Given the description of an element on the screen output the (x, y) to click on. 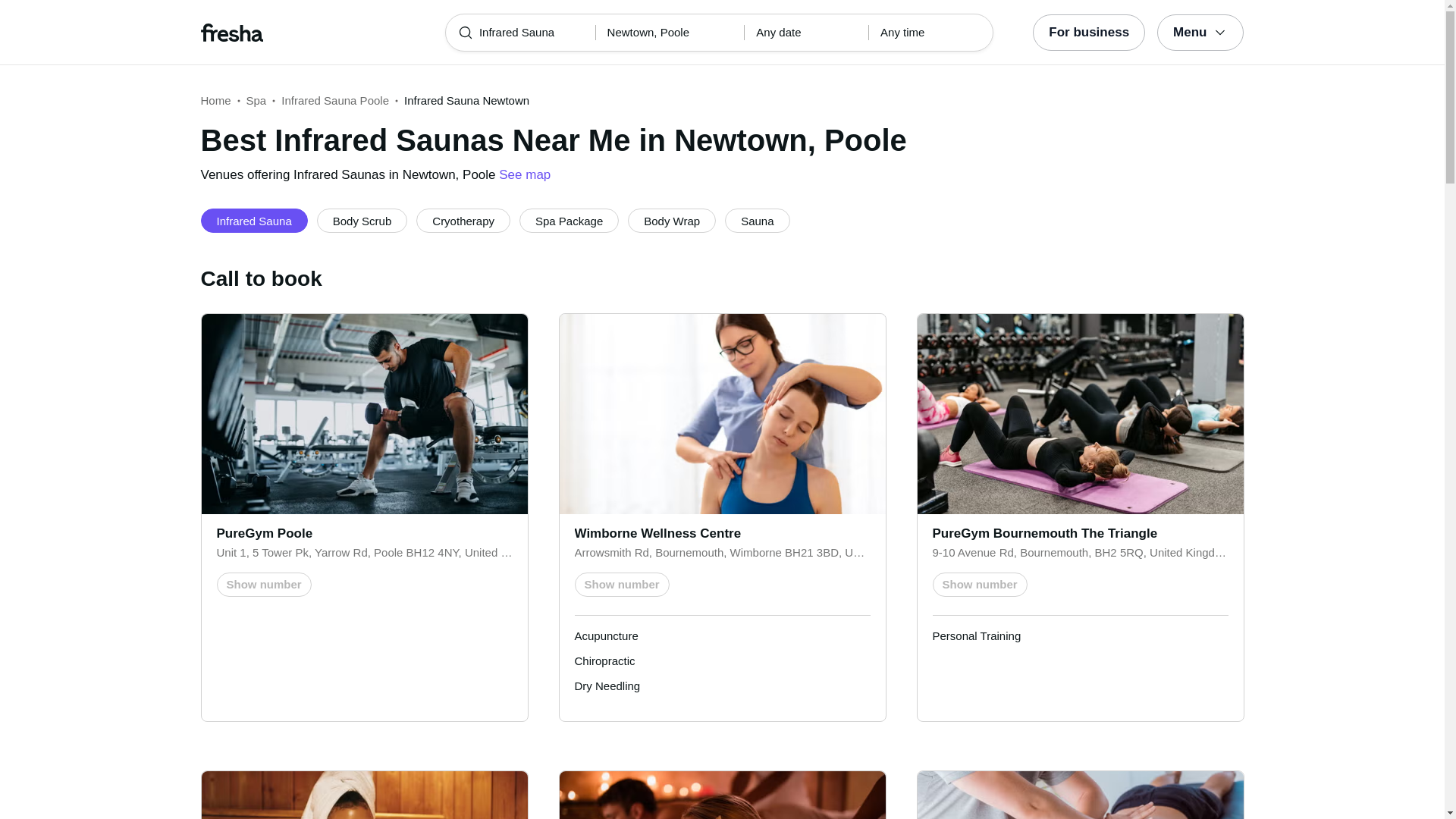
Infrared Sauna Poole (334, 100)
For business (1088, 31)
Body Wrap (671, 220)
Spa (256, 100)
For business (1088, 31)
Body Wrap (671, 220)
Sauna (757, 220)
Infrared Sauna Poole (334, 100)
Sauna (757, 220)
Cryotherapy (463, 220)
Search for venue or service (718, 32)
Spa (256, 100)
See map (524, 174)
Spa Package (568, 220)
Home (215, 100)
